Given the description of an element on the screen output the (x, y) to click on. 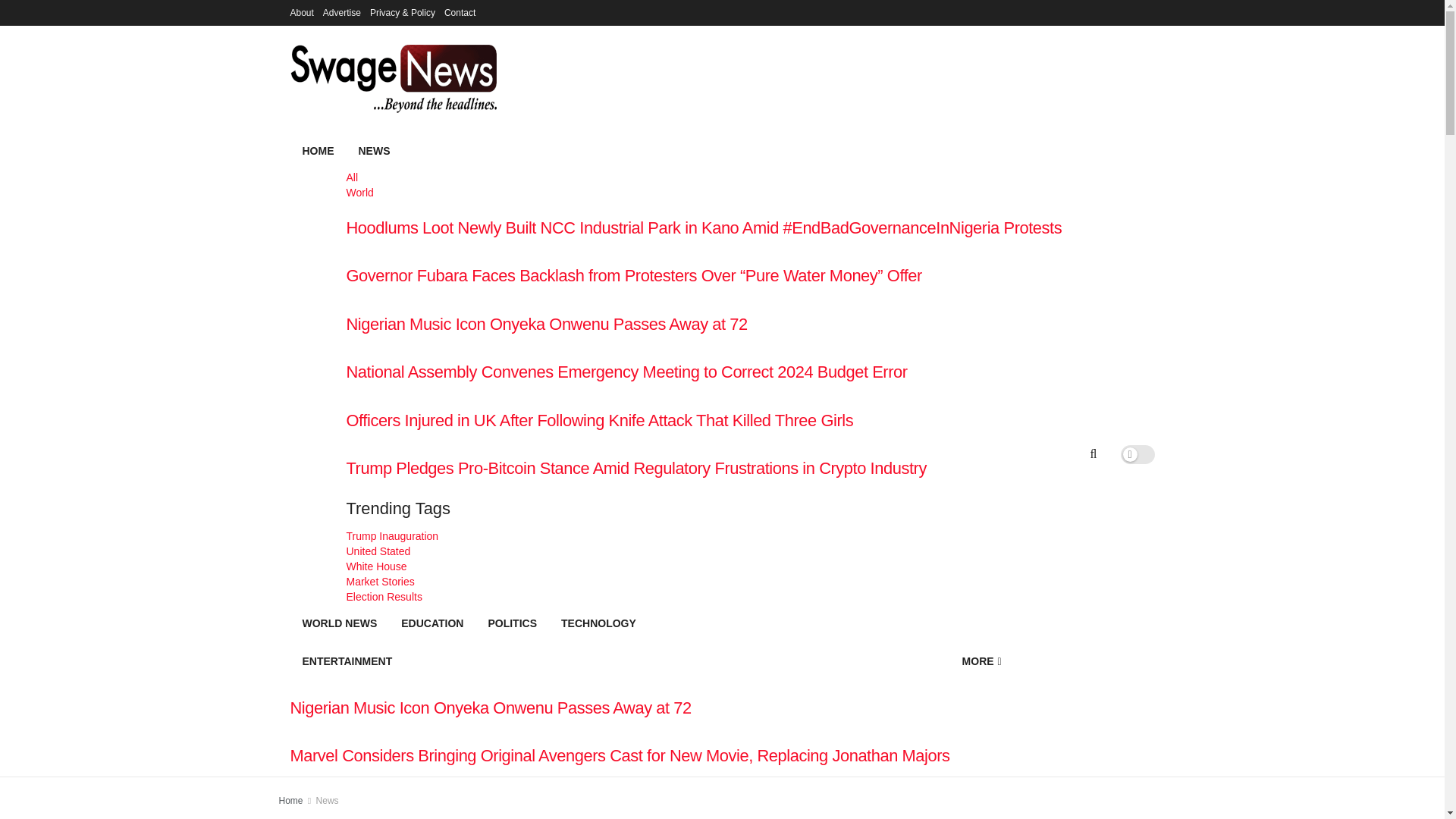
Nigerian Music Icon Onyeka Onwenu Passes Away at 72 (619, 708)
Nigerian Music Icon Onyeka Onwenu Passes Away at 72 (703, 324)
About (301, 12)
MORE (980, 661)
All (703, 177)
ENTERTAINMENT (619, 661)
White House (703, 566)
POLITICS (512, 623)
Trump Inauguration (703, 535)
World (703, 192)
NEWS (703, 150)
United Stated (703, 550)
